Given the description of an element on the screen output the (x, y) to click on. 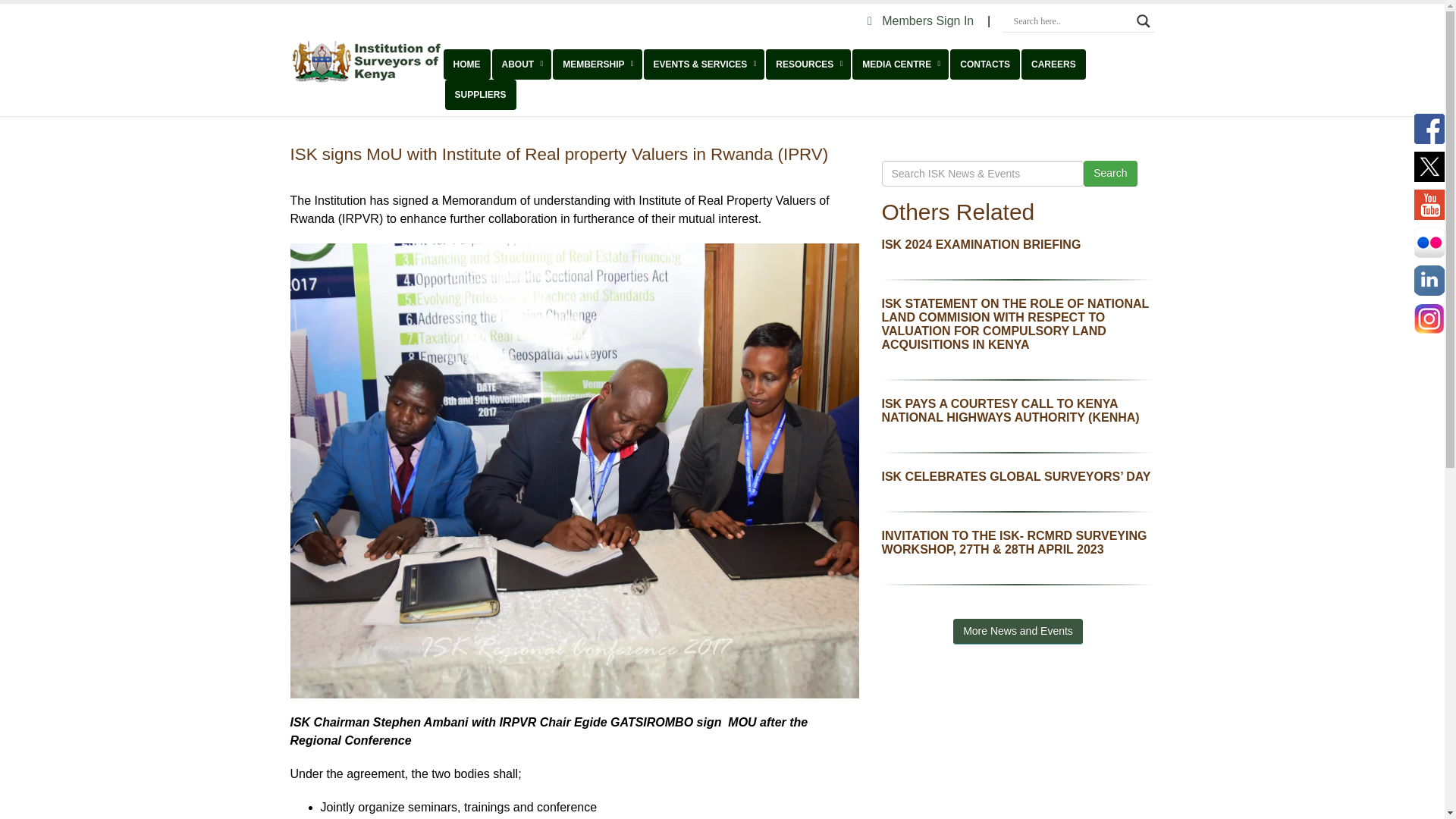
MEMBERSHIP (597, 64)
Search (1110, 173)
   Members Sign In (921, 20)
HOME (465, 64)
ABOUT (521, 64)
